Given the description of an element on the screen output the (x, y) to click on. 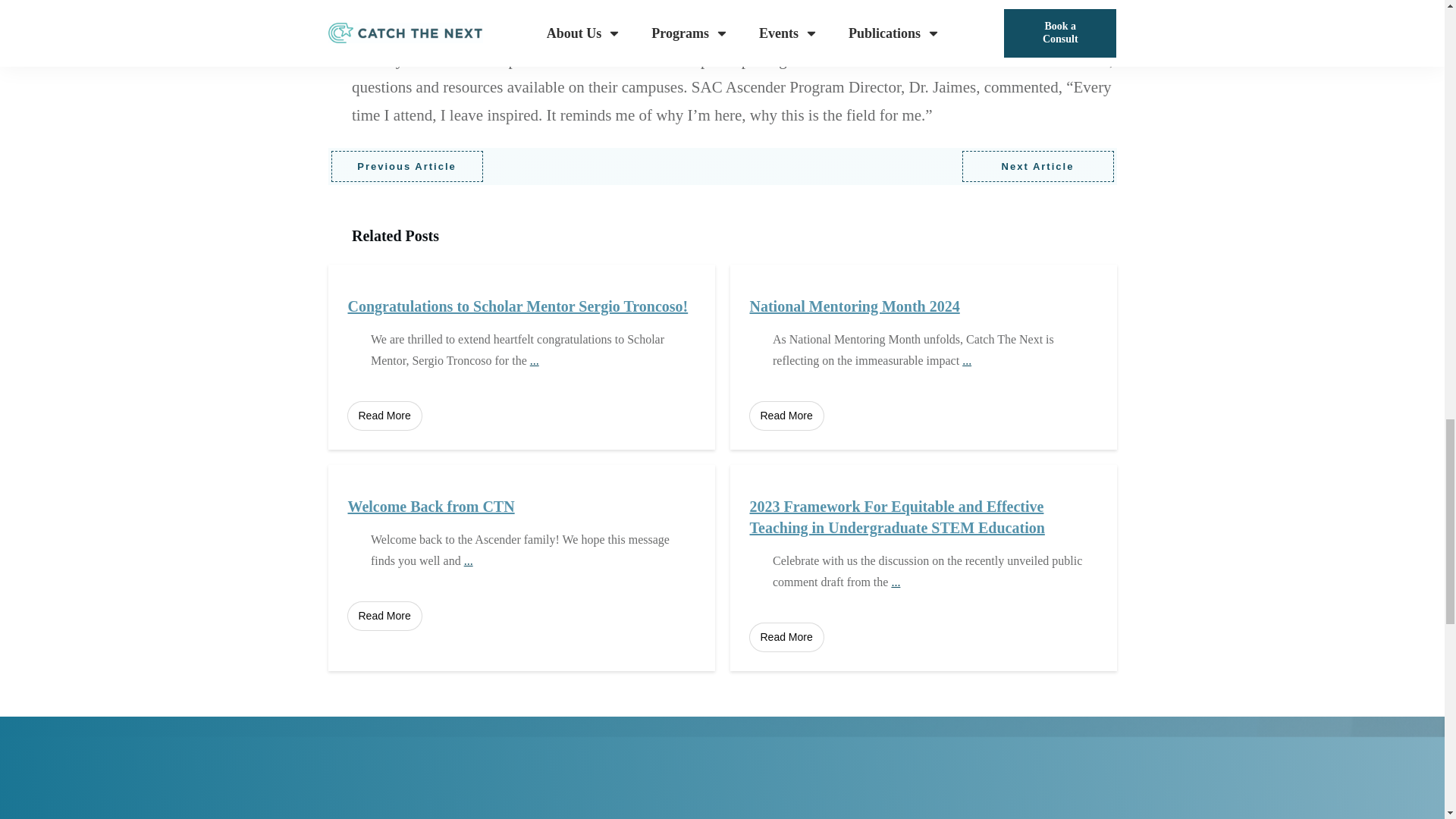
National Mentoring Month 2024 (854, 306)
Congratulations to Scholar Mentor Sergio Troncoso! (517, 306)
Welcome Back from CTN (430, 506)
